Given the description of an element on the screen output the (x, y) to click on. 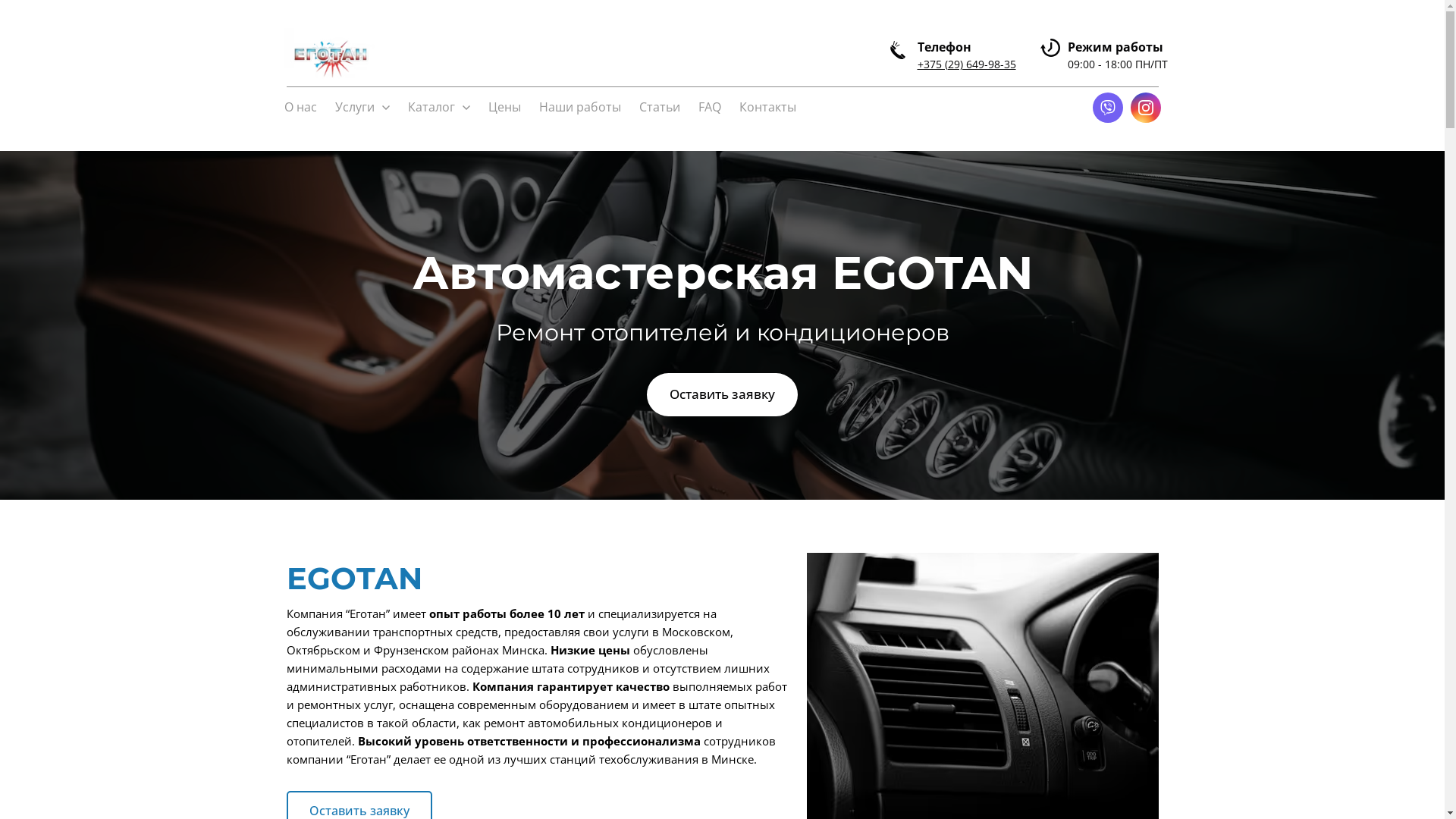
FAQ Element type: text (708, 107)
+375 (29) 649-98-35 Element type: text (966, 63)
